Given the description of an element on the screen output the (x, y) to click on. 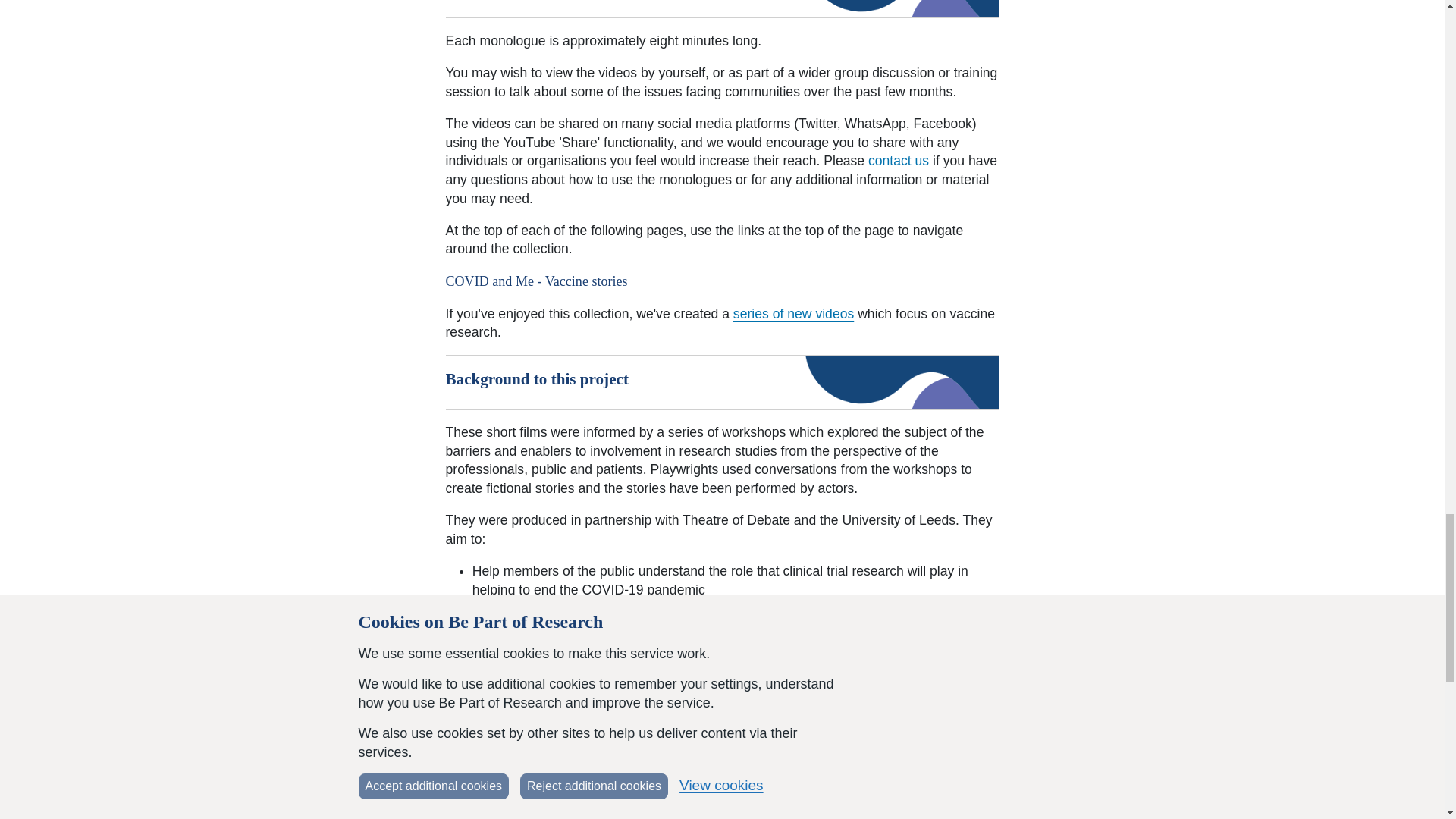
COVID and Me Vaccine videos (793, 313)
Contact us form (897, 160)
